Given the description of an element on the screen output the (x, y) to click on. 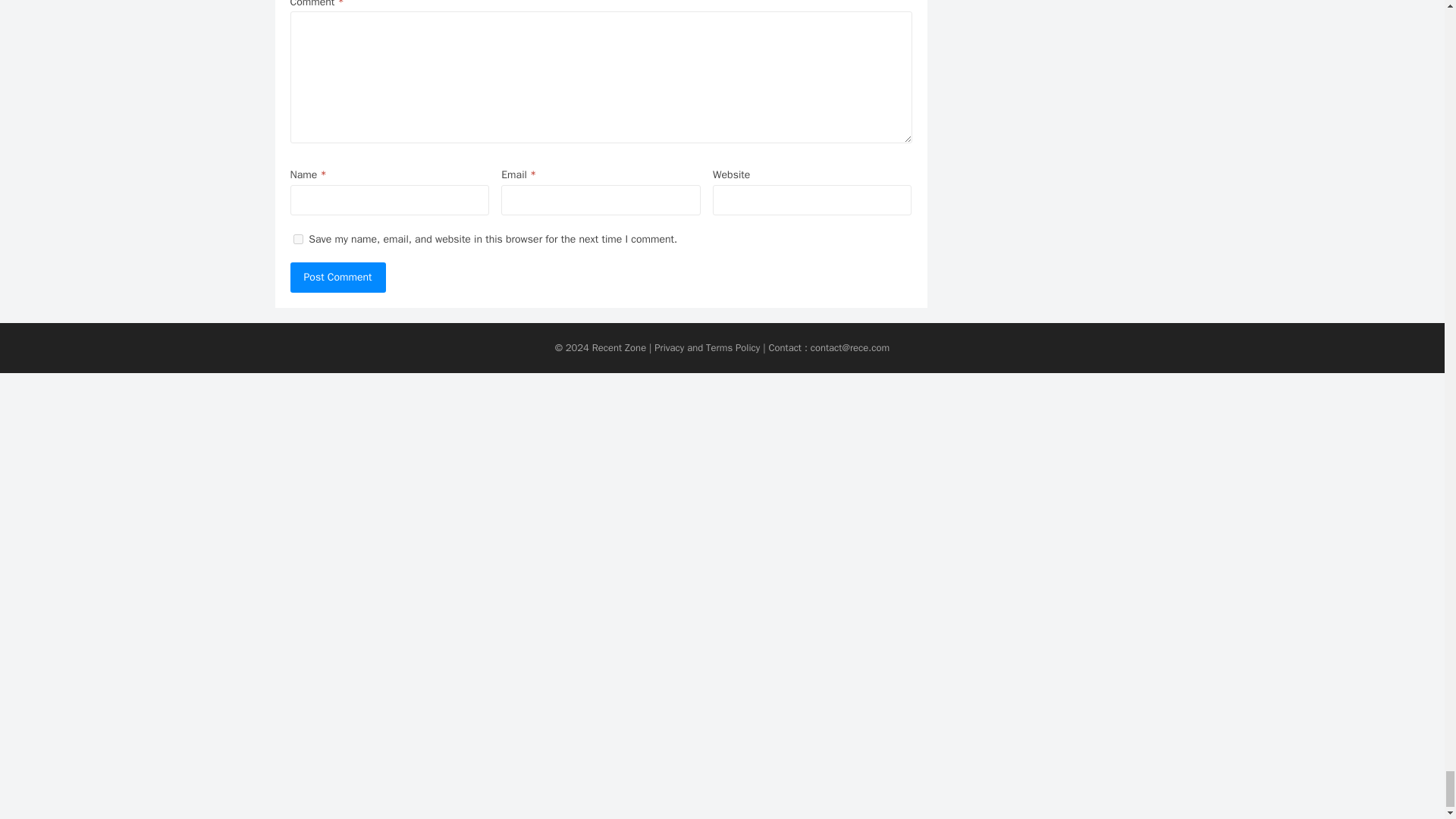
yes (297, 239)
Post Comment (337, 277)
